Given the description of an element on the screen output the (x, y) to click on. 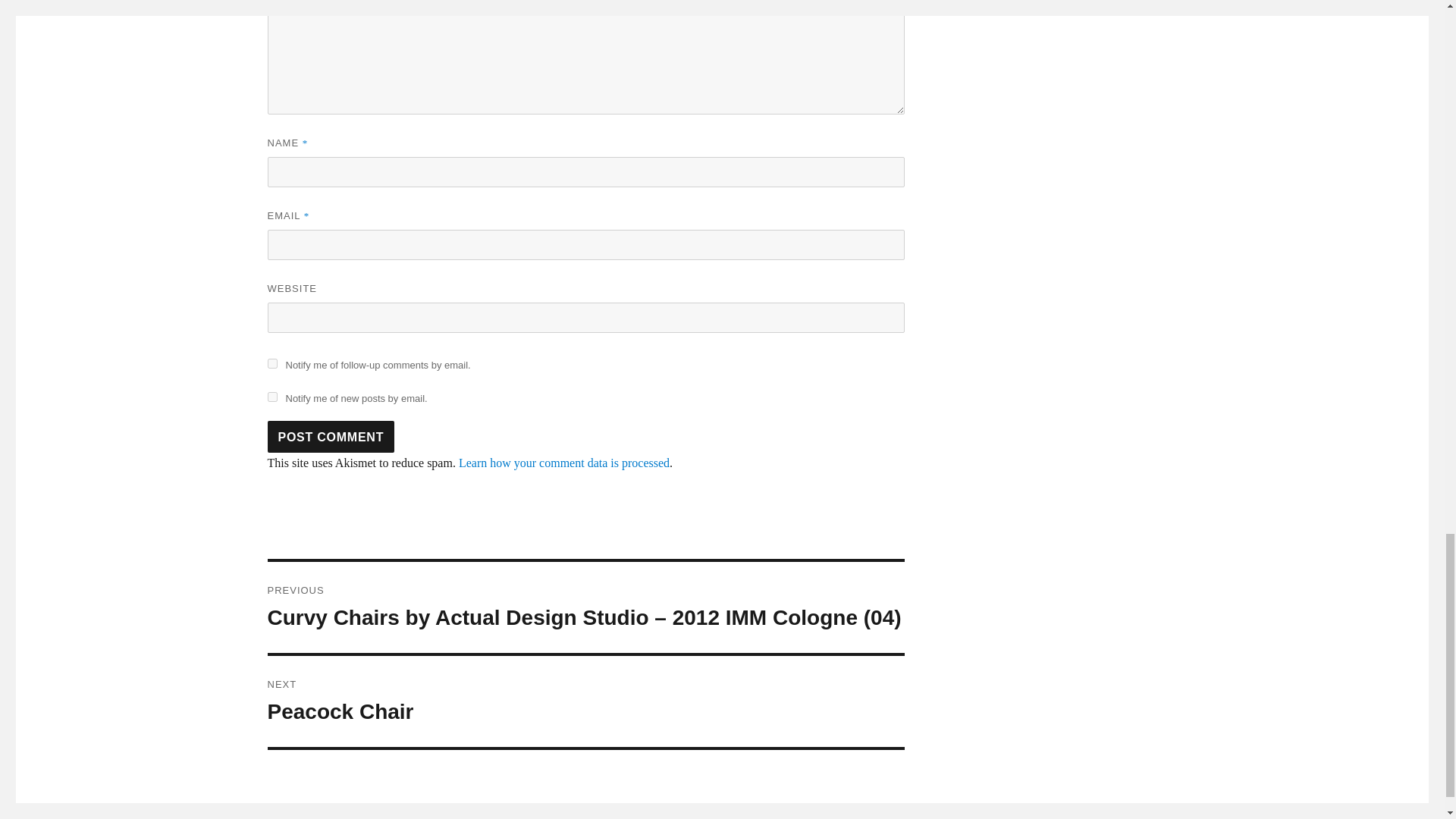
Learn how your comment data is processed (563, 462)
Post Comment (585, 701)
Post Comment (330, 436)
subscribe (330, 436)
subscribe (271, 397)
